Given the description of an element on the screen output the (x, y) to click on. 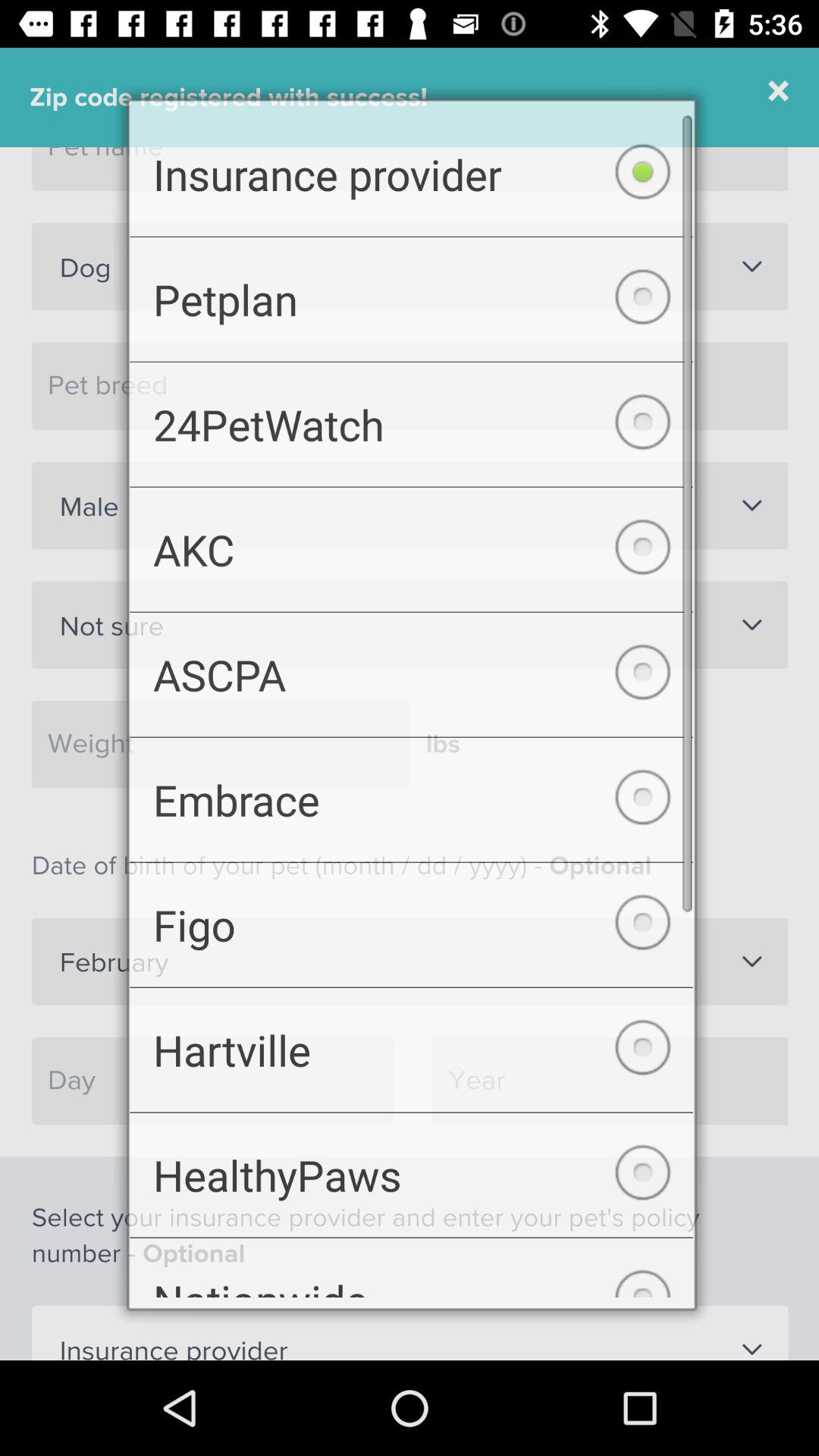
swipe to ascpa icon (411, 673)
